Given the description of an element on the screen output the (x, y) to click on. 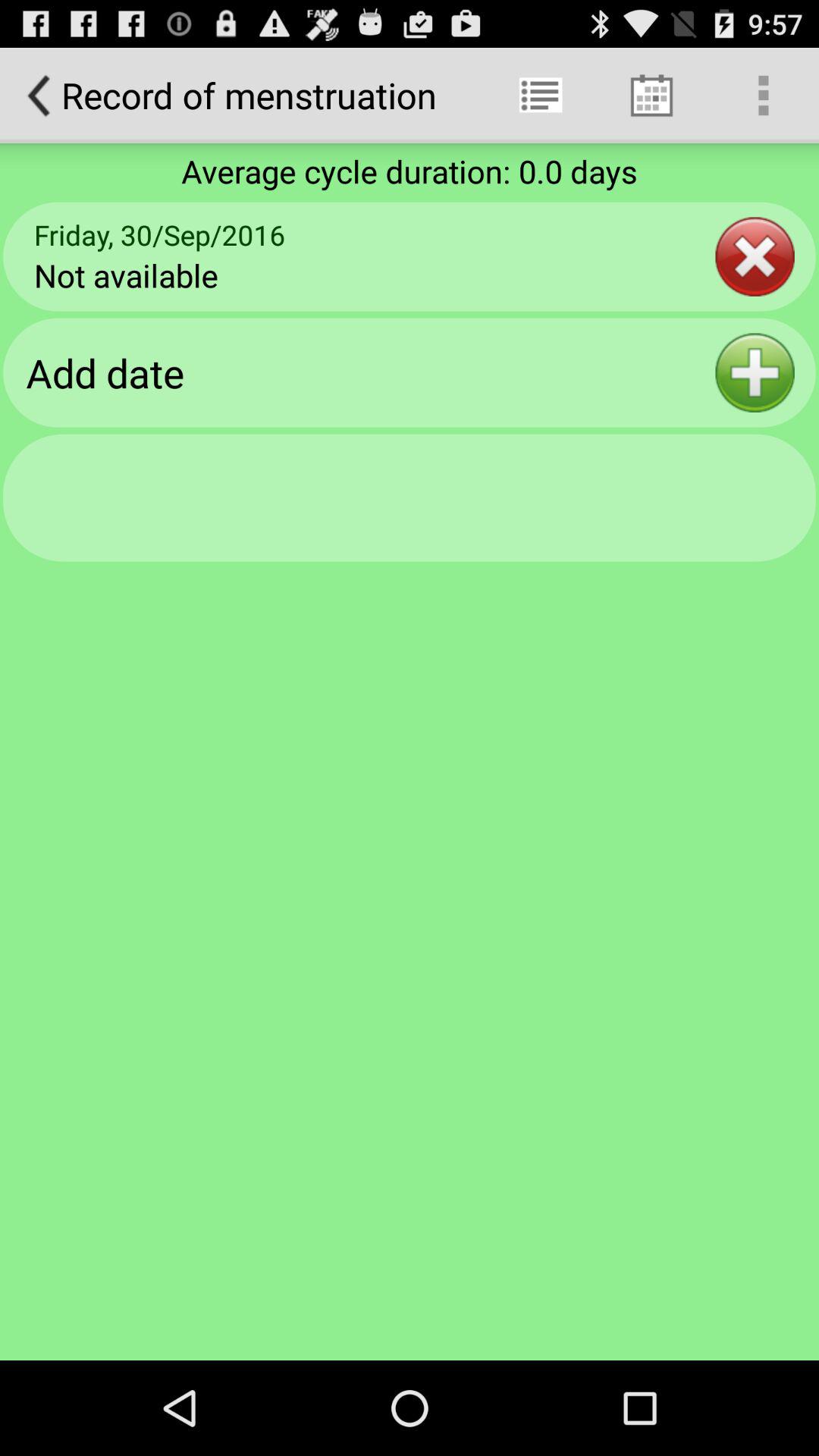
open the icon above the average cycle duration item (651, 95)
